Given the description of an element on the screen output the (x, y) to click on. 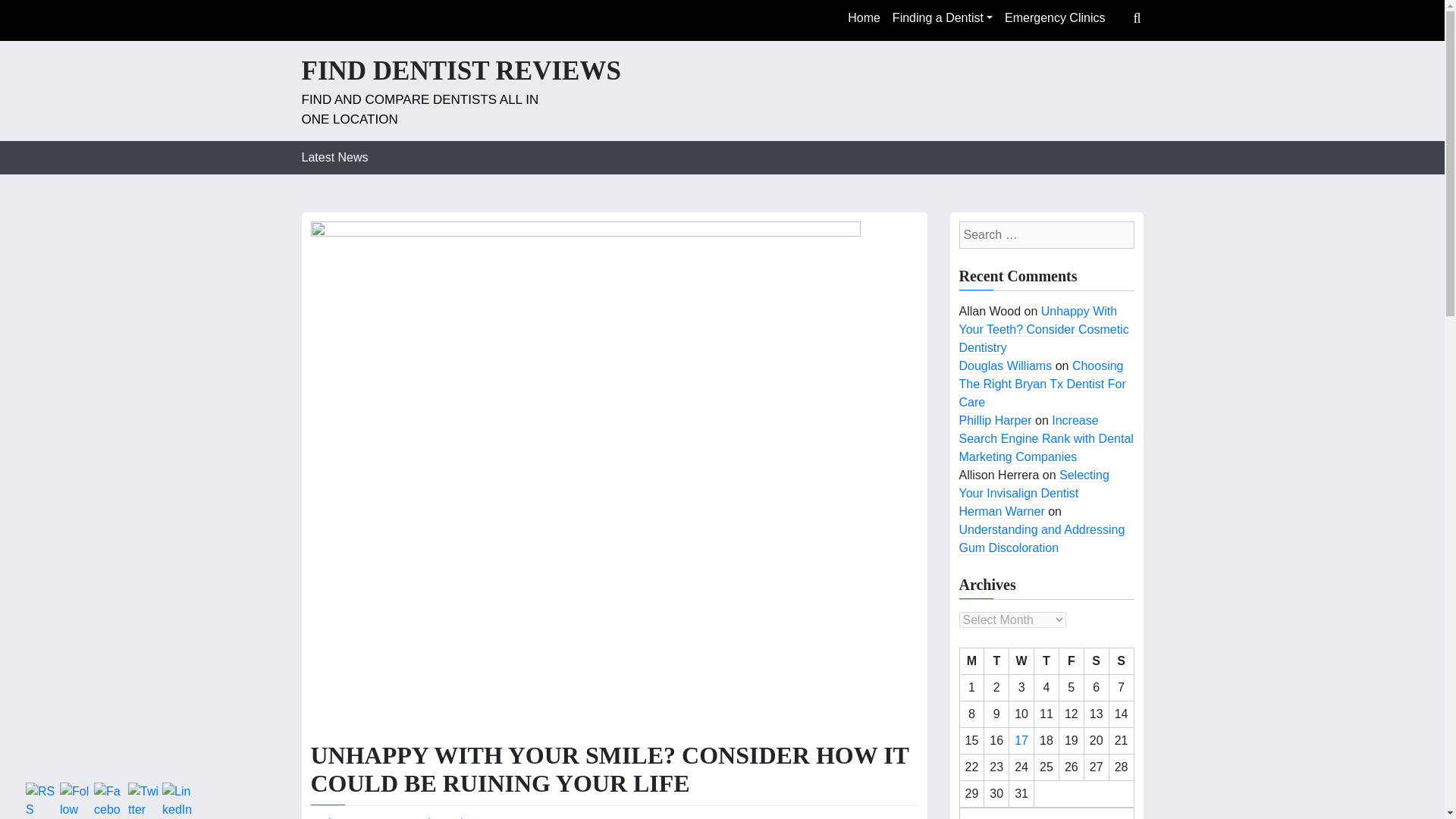
Tuesday (996, 660)
Choosing The Right Bryan Tx Dentist For Care (1041, 384)
Sunday (1121, 660)
Increase Search Engine Rank with Dental Marketing Companies (1045, 439)
Search (96, 13)
Dentist Review (441, 817)
Douglas Williams (1004, 366)
Home (863, 18)
Selecting Your Invisalign Dentist (1033, 484)
Saturday (1095, 660)
Thursday (1046, 660)
Emergency Clinics (1054, 18)
Finding a Dentist (942, 18)
Phillip Harper (994, 420)
Understanding and Addressing Gum Discoloration (1041, 539)
